Given the description of an element on the screen output the (x, y) to click on. 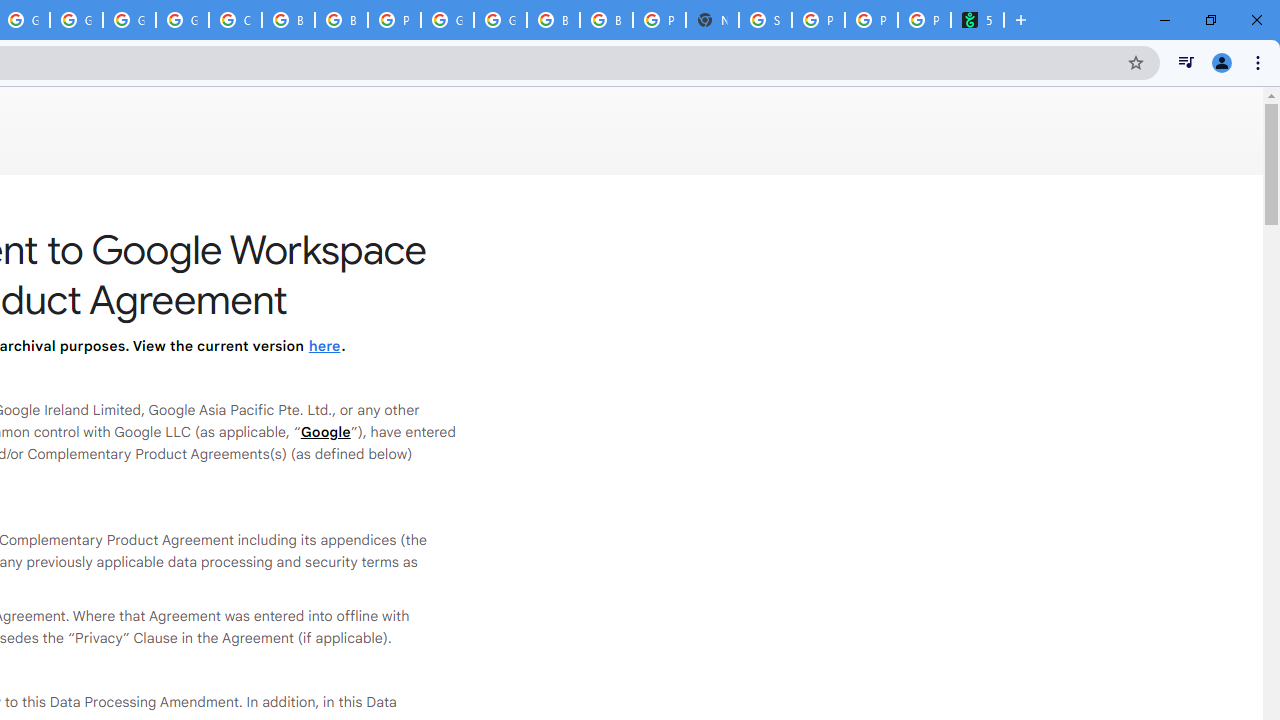
Google Cloud Platform (447, 20)
Control your music, videos, and more (1185, 62)
Chrome (1260, 62)
Browse Chrome as a guest - Computer - Google Chrome Help (553, 20)
Sign in - Google Accounts (765, 20)
Minimize (1165, 20)
Restore (1210, 20)
here (324, 345)
